Given the description of an element on the screen output the (x, y) to click on. 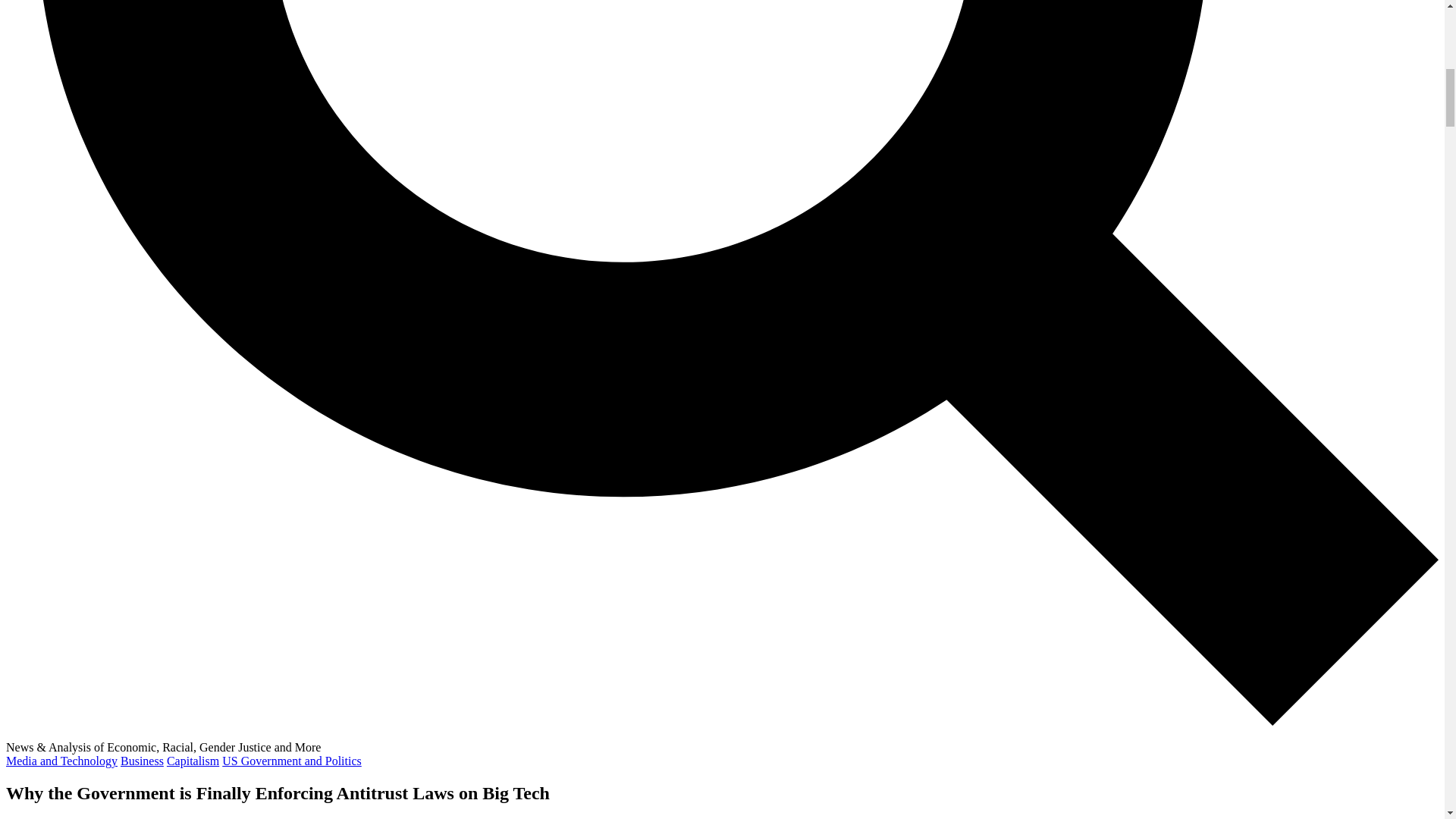
Capitalism (193, 760)
Media and Technology (61, 760)
US Government and Politics (291, 760)
Business (141, 760)
